Given the description of an element on the screen output the (x, y) to click on. 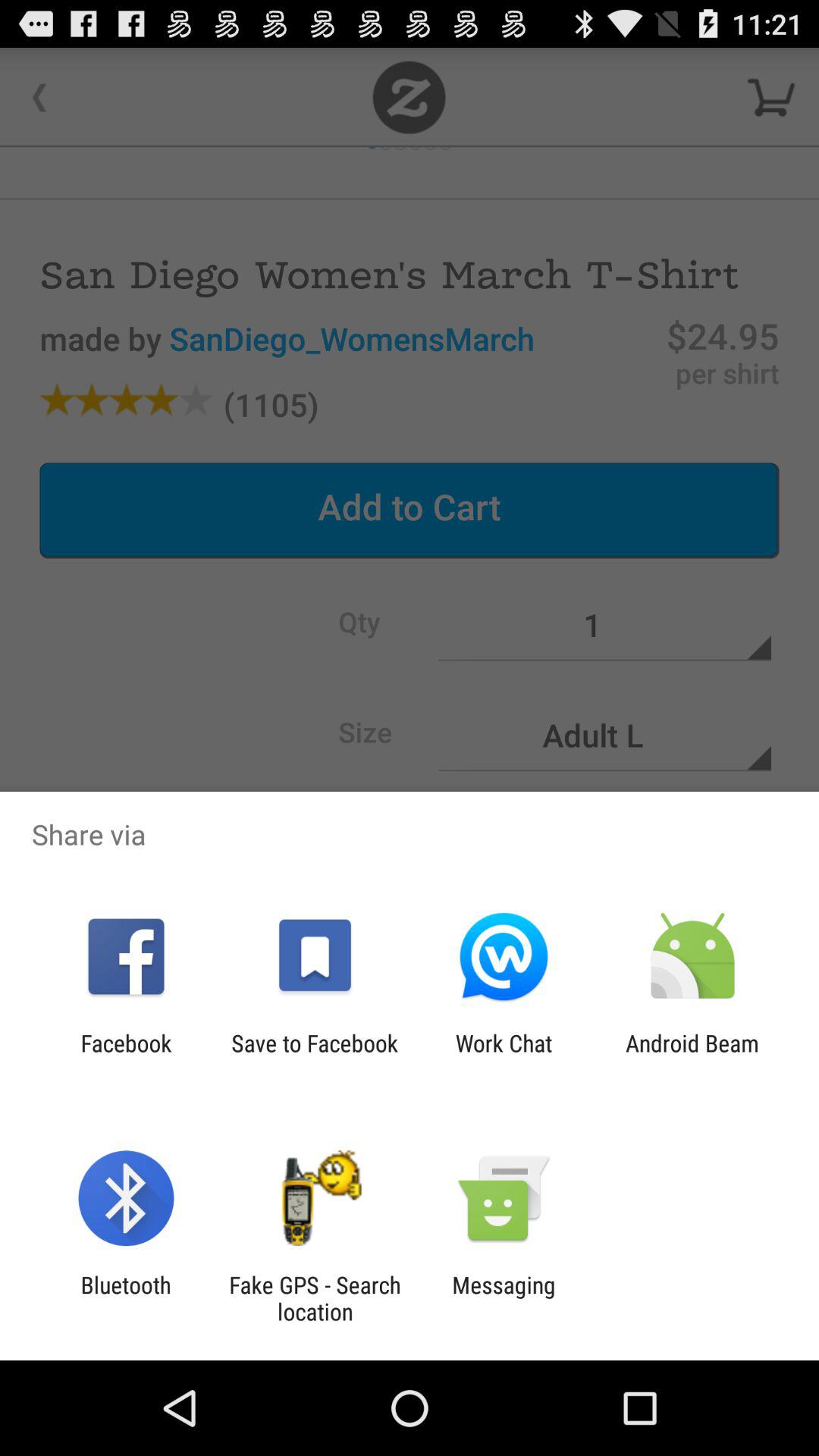
click the icon to the left of fake gps search item (125, 1298)
